Given the description of an element on the screen output the (x, y) to click on. 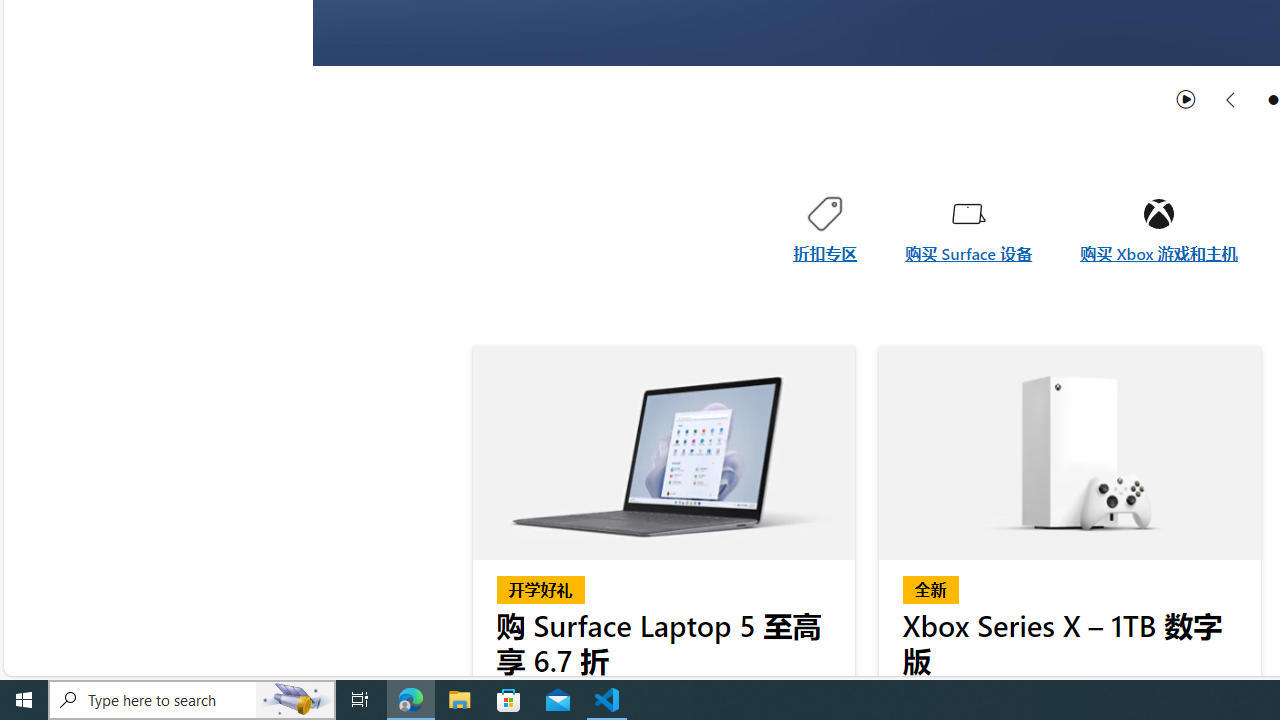
Pause (1186, 99)
